Given the description of an element on the screen output the (x, y) to click on. 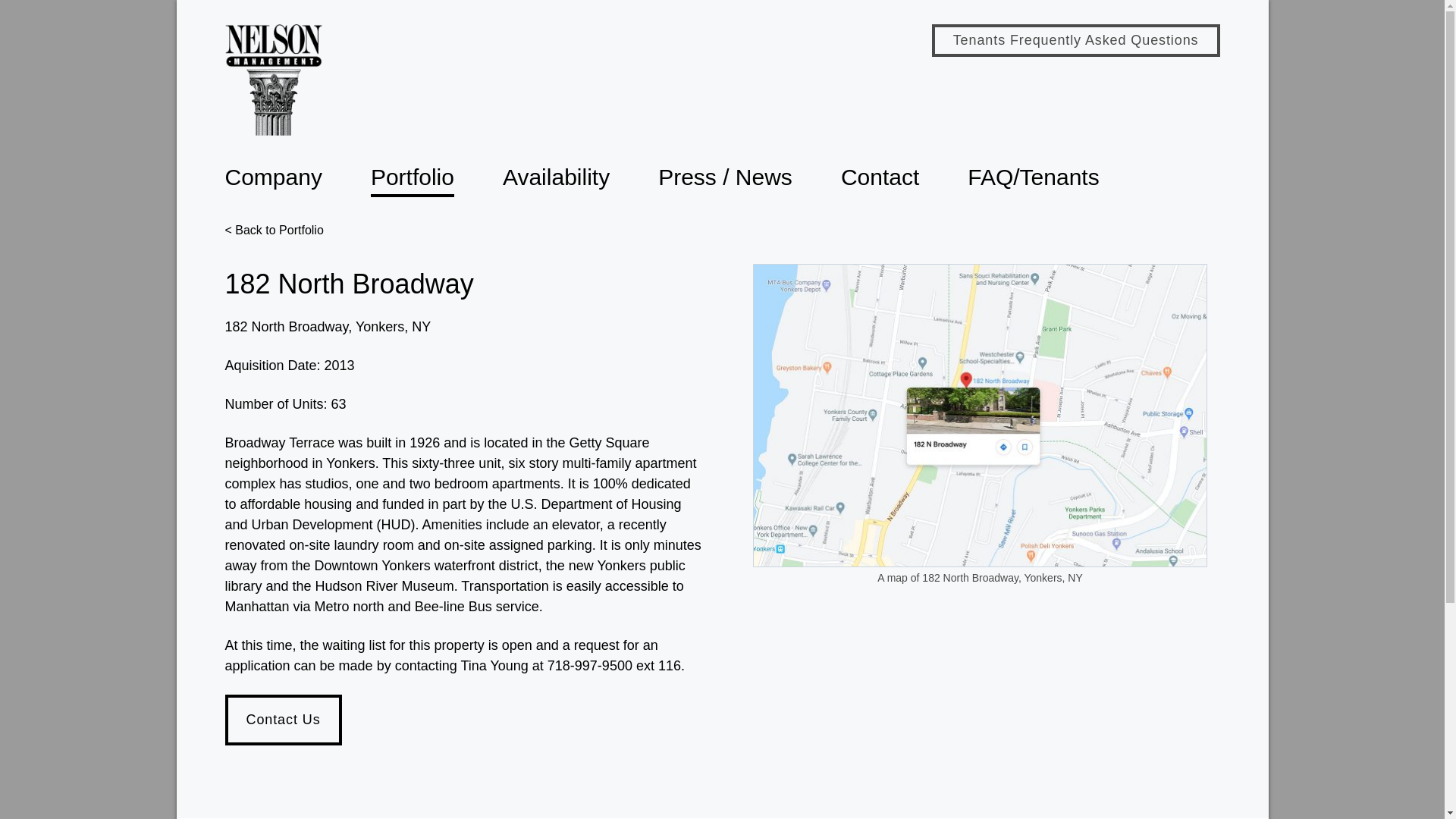
Contact Us (282, 719)
Tenants Frequently Asked Questions (1075, 40)
Portfolio (412, 178)
Company (272, 178)
Availability (556, 178)
Contact (879, 178)
